Given the description of an element on the screen output the (x, y) to click on. 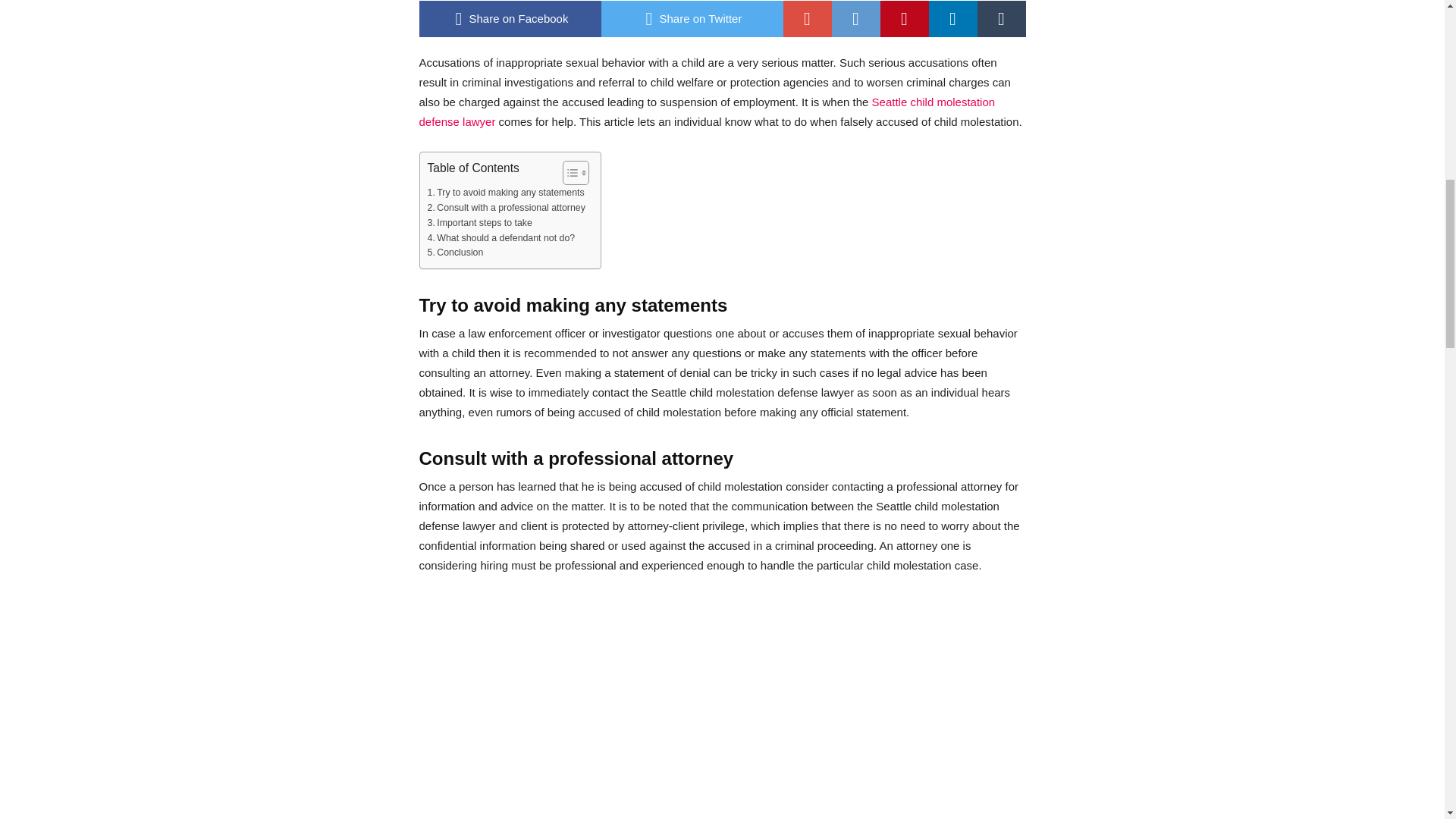
twitter (691, 18)
facebook (509, 18)
google (807, 18)
